Given the description of an element on the screen output the (x, y) to click on. 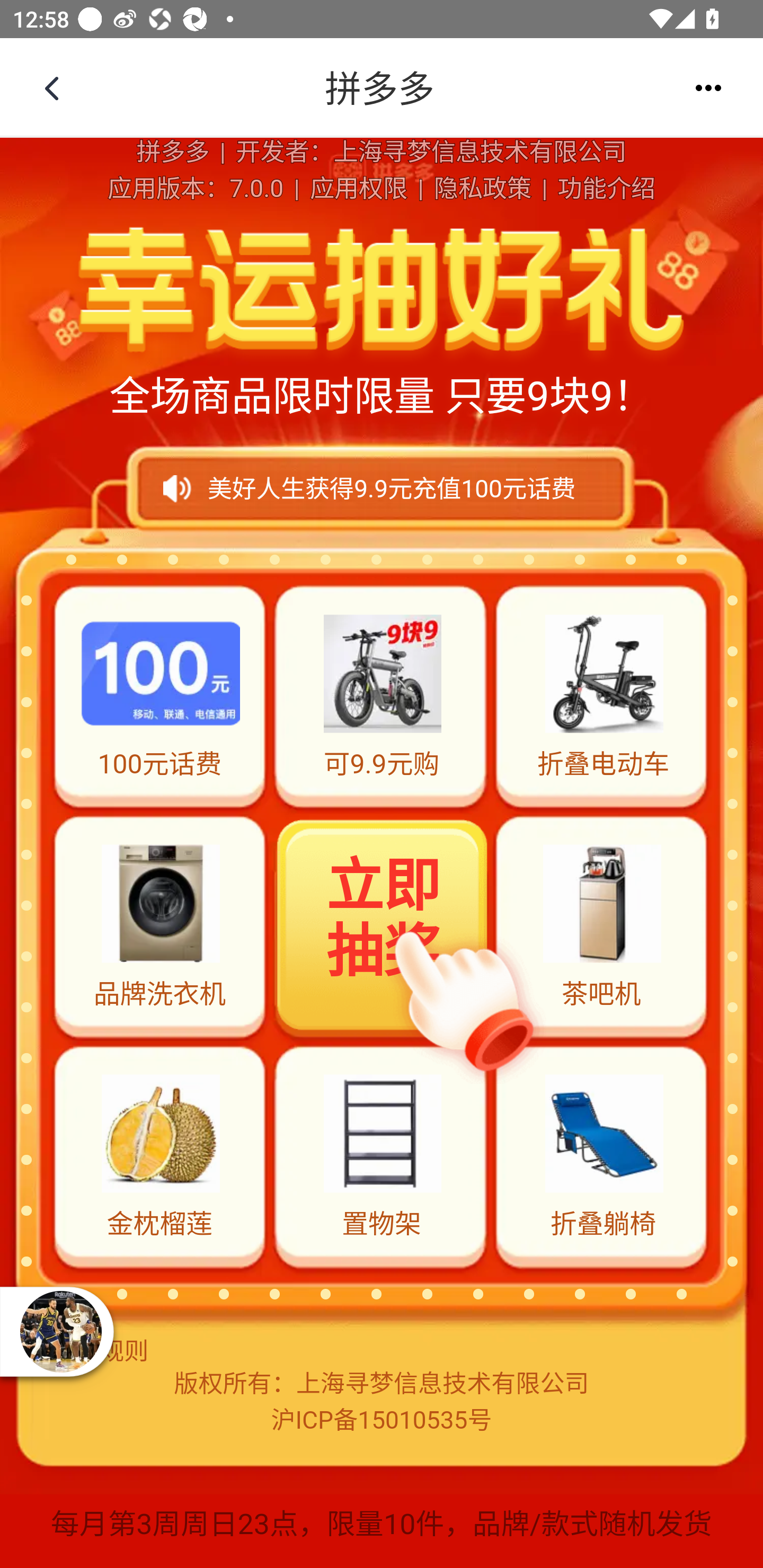
更多 (708, 87)
立即抽奖 (382, 924)
播放器 (60, 1331)
